Given the description of an element on the screen output the (x, y) to click on. 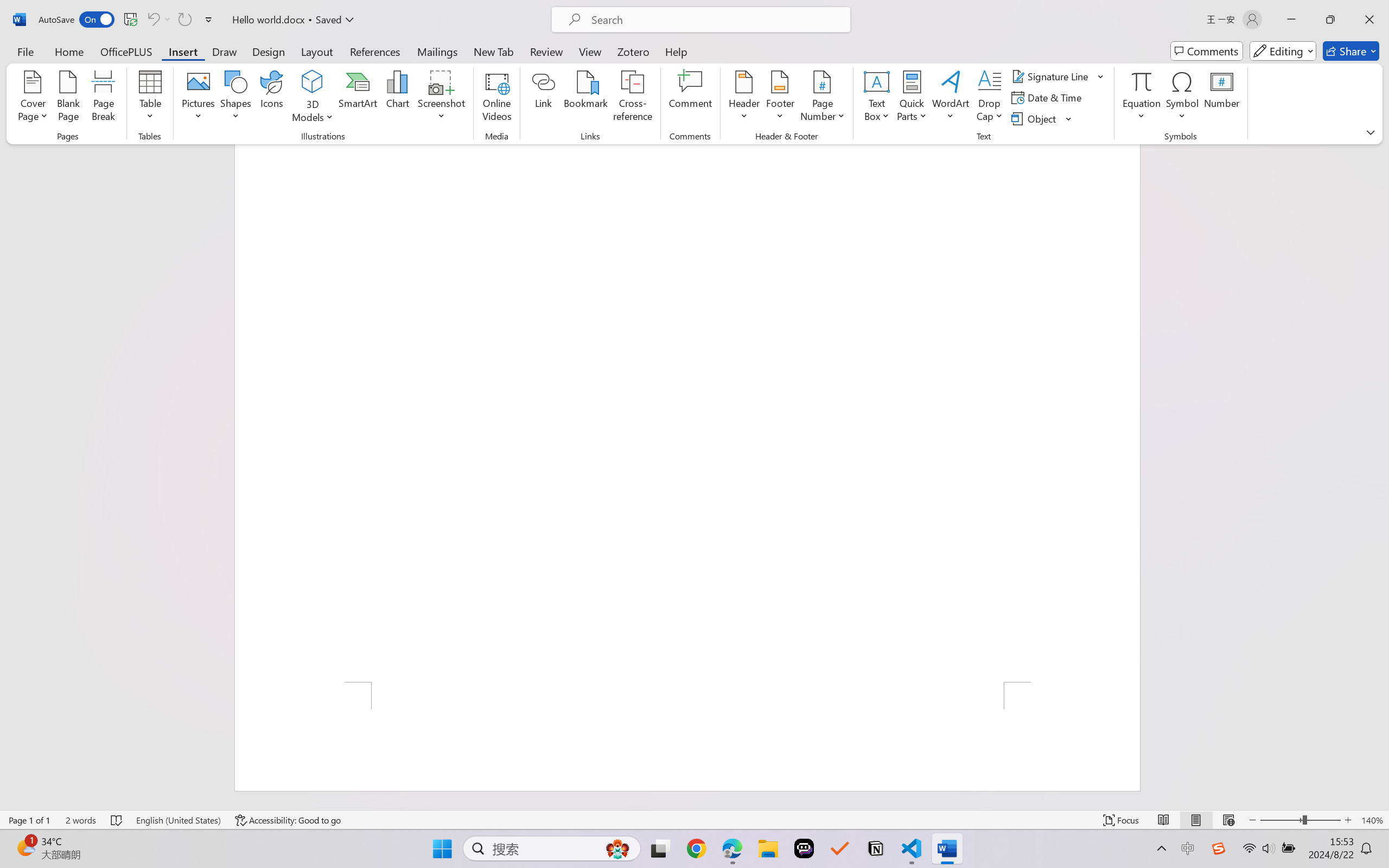
Class: MsoCommandBar (694, 819)
References (375, 51)
Accessibility Checker Accessibility: Good to go (288, 819)
Focus  (1121, 819)
Help (675, 51)
AutoSave (76, 19)
Insert (182, 51)
Spelling and Grammar Check No Errors (117, 819)
Share (1350, 51)
Read Mode (1163, 819)
Print Layout (1196, 819)
Minimize (1291, 19)
